Given the description of an element on the screen output the (x, y) to click on. 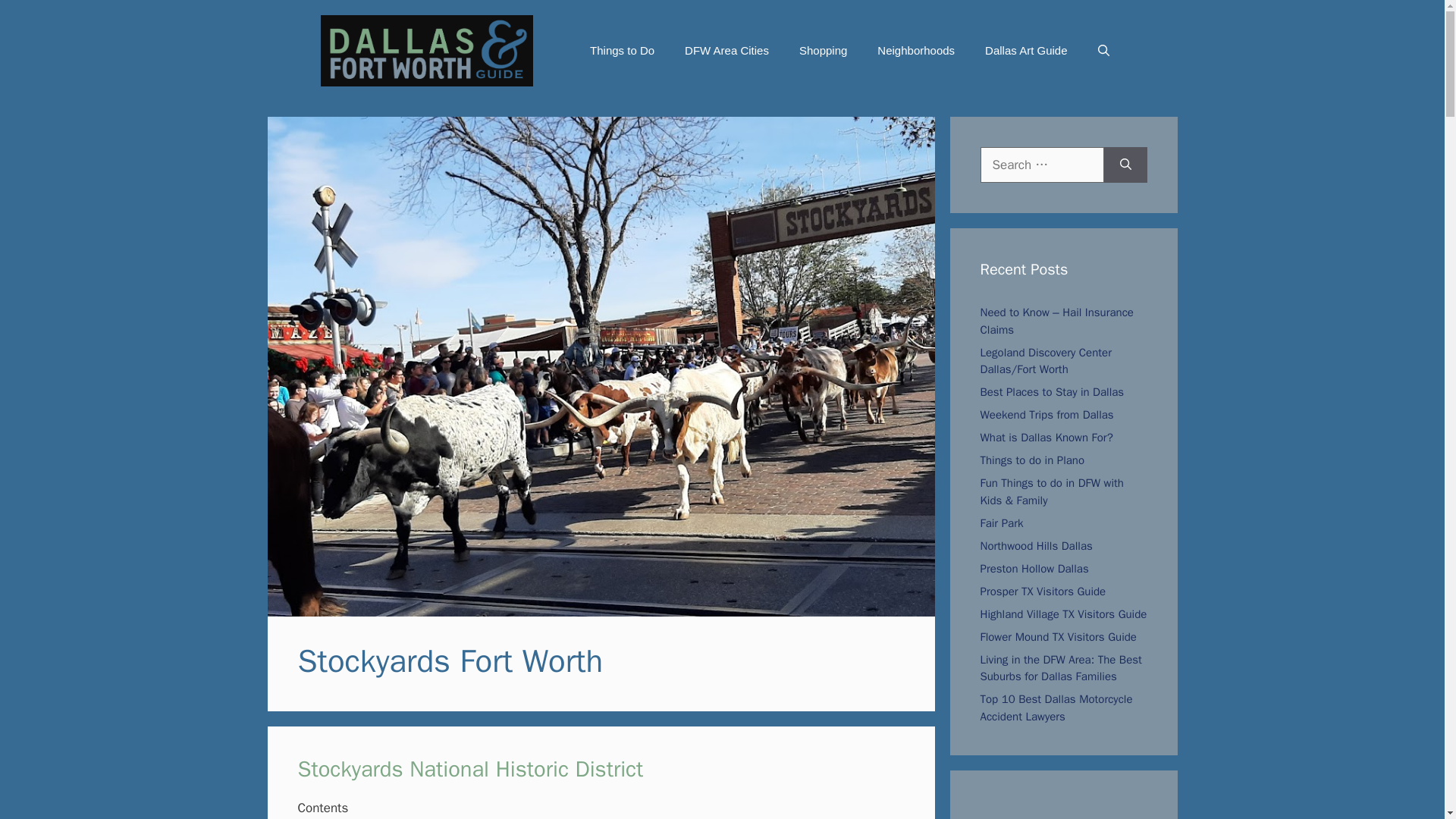
Highland Village TX Visitors Guide (1063, 613)
Northwood Hills Dallas (1035, 545)
Living in the DFW Area: The Best Suburbs for Dallas Families (1060, 667)
Things to Do (622, 50)
Neighborhoods (915, 50)
Search for: (1041, 165)
What is Dallas Known For? (1045, 437)
Dallas Art Guide (1025, 50)
Best Places to Stay in Dallas (1051, 391)
Flower Mound TX Visitors Guide (1057, 636)
